Given the description of an element on the screen output the (x, y) to click on. 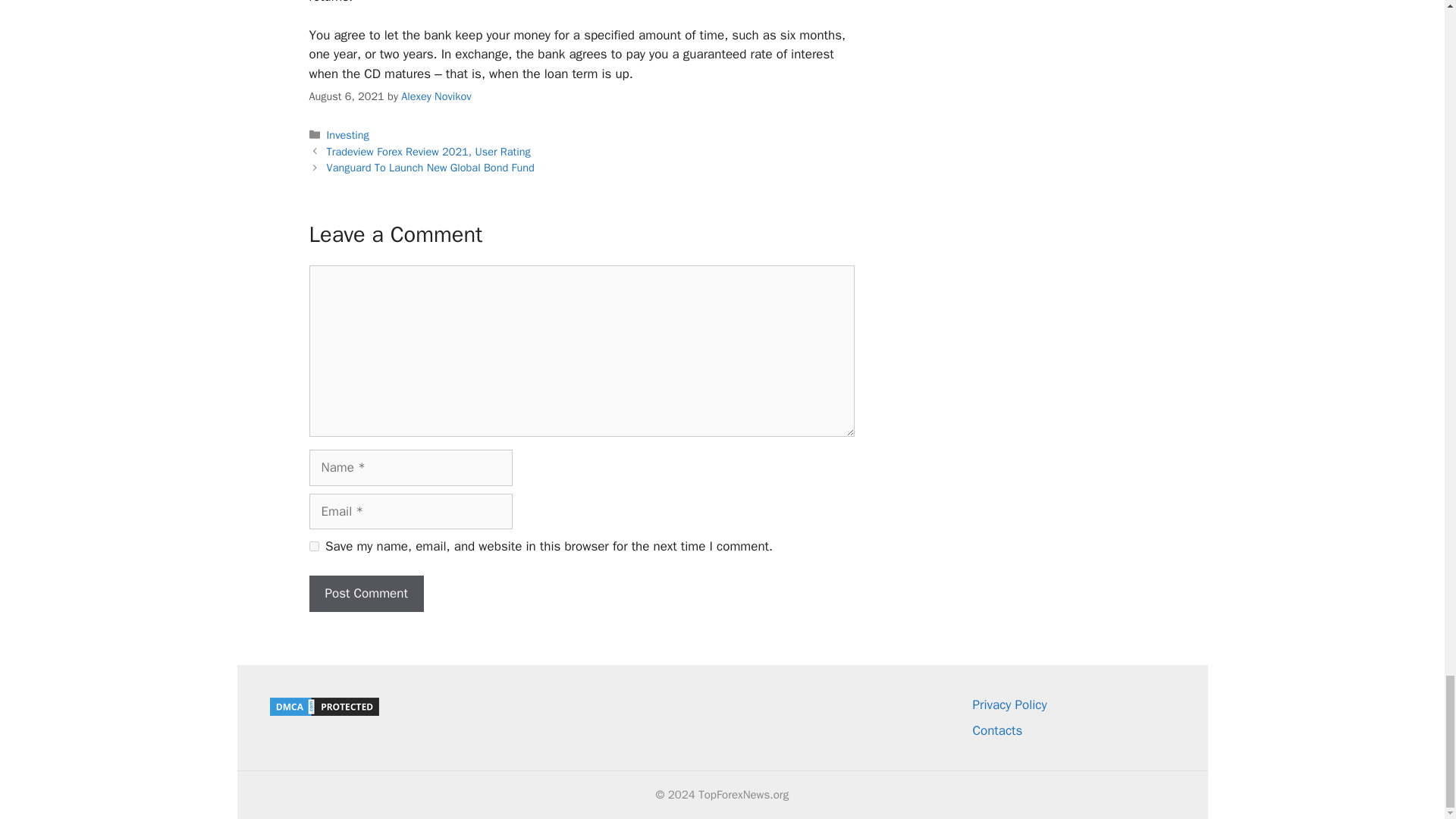
Vanguard To Launch New Global Bond Fund (430, 167)
Post Comment (365, 593)
Previous (428, 151)
Next (430, 167)
Contacts (997, 730)
DMCA.com Protection Status (323, 713)
Post Comment (365, 593)
Tradeview Forex Review 2021, User Rating (428, 151)
yes (313, 546)
Privacy Policy (1009, 704)
Investing (347, 134)
View all posts by Alexey Novikov (435, 96)
Alexey Novikov (435, 96)
